Given the description of an element on the screen output the (x, y) to click on. 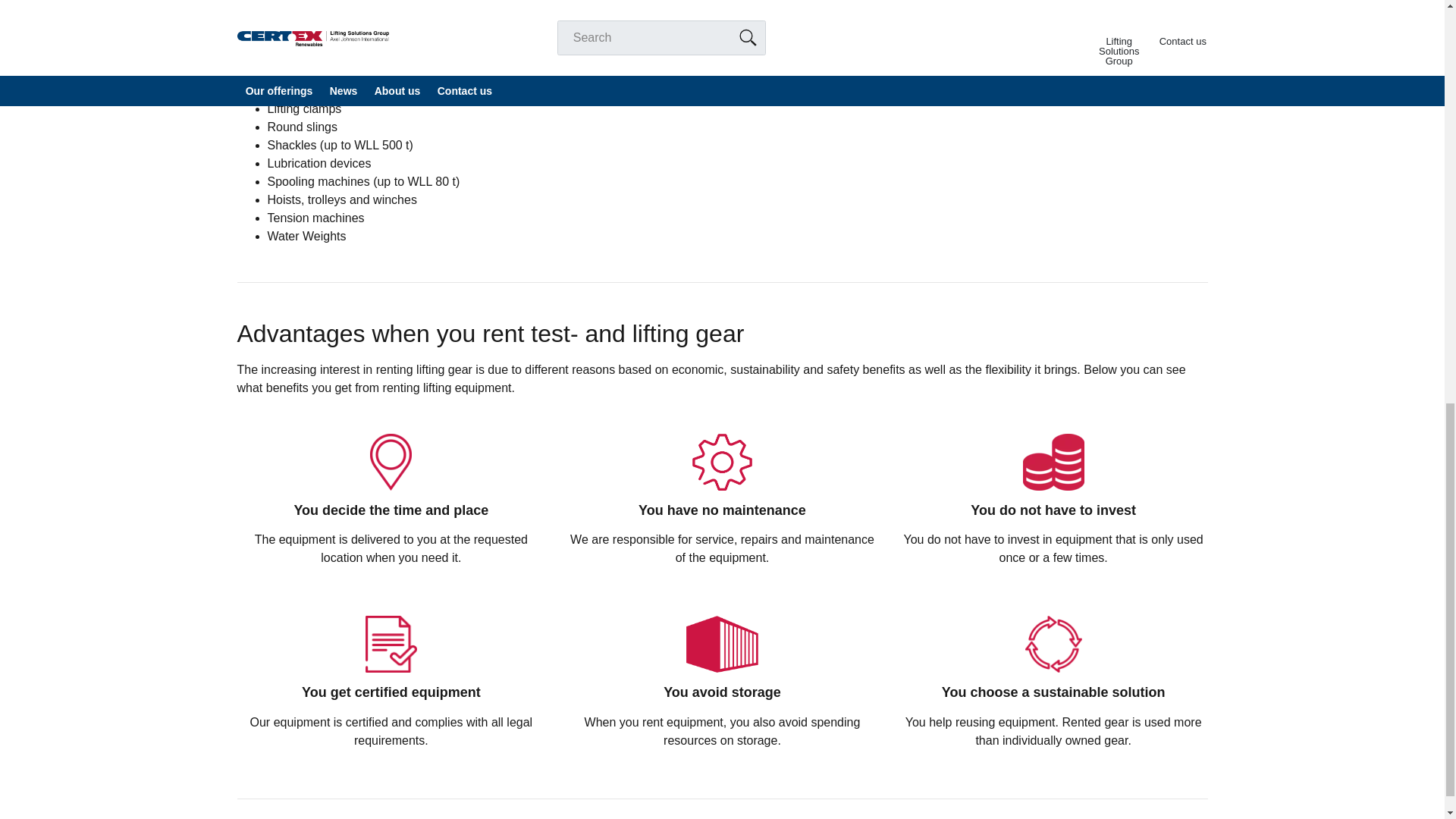
You do not have to invest (1053, 462)
You have no maintenance (722, 462)
You avoid storage (721, 643)
You choose a sustainable solution (1053, 643)
You get certified equipment (390, 643)
